Given the description of an element on the screen output the (x, y) to click on. 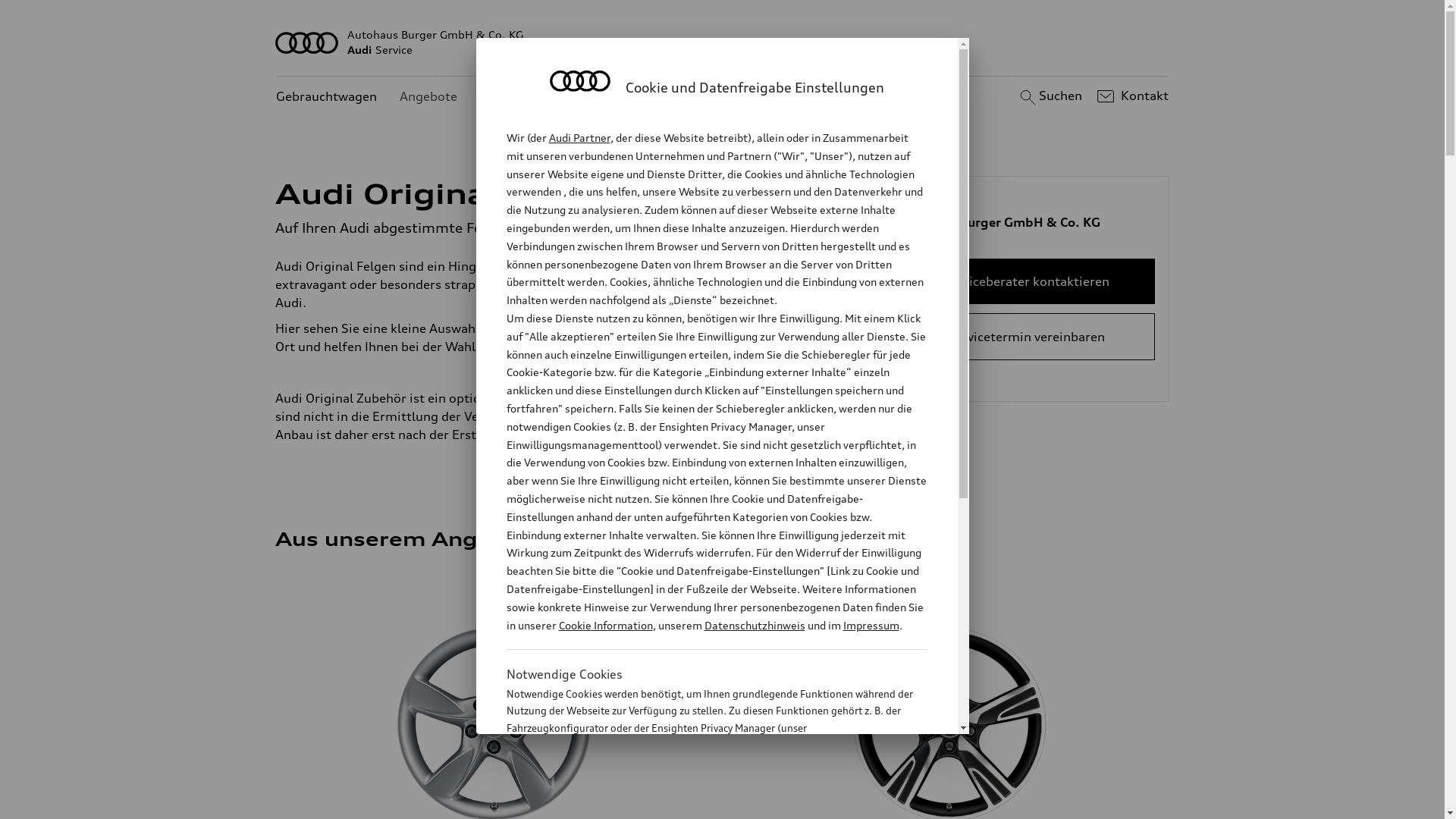
Kontakt Element type: text (1130, 96)
Datenschutzhinweis Element type: text (753, 624)
Cookie Information Element type: text (700, 802)
Angebote Element type: text (428, 96)
Audi Partner Element type: text (579, 137)
Gebrauchtwagen Element type: text (326, 96)
Suchen Element type: text (1049, 96)
Servicetermin vereinbaren Element type: text (1025, 336)
Kundenservice Element type: text (523, 96)
Cookie Information Element type: text (605, 624)
Impressum Element type: text (871, 624)
Serviceberater kontaktieren Element type: text (1025, 281)
Autohaus Burger GmbH & Co. KG
AudiService Element type: text (722, 42)
